Given the description of an element on the screen output the (x, y) to click on. 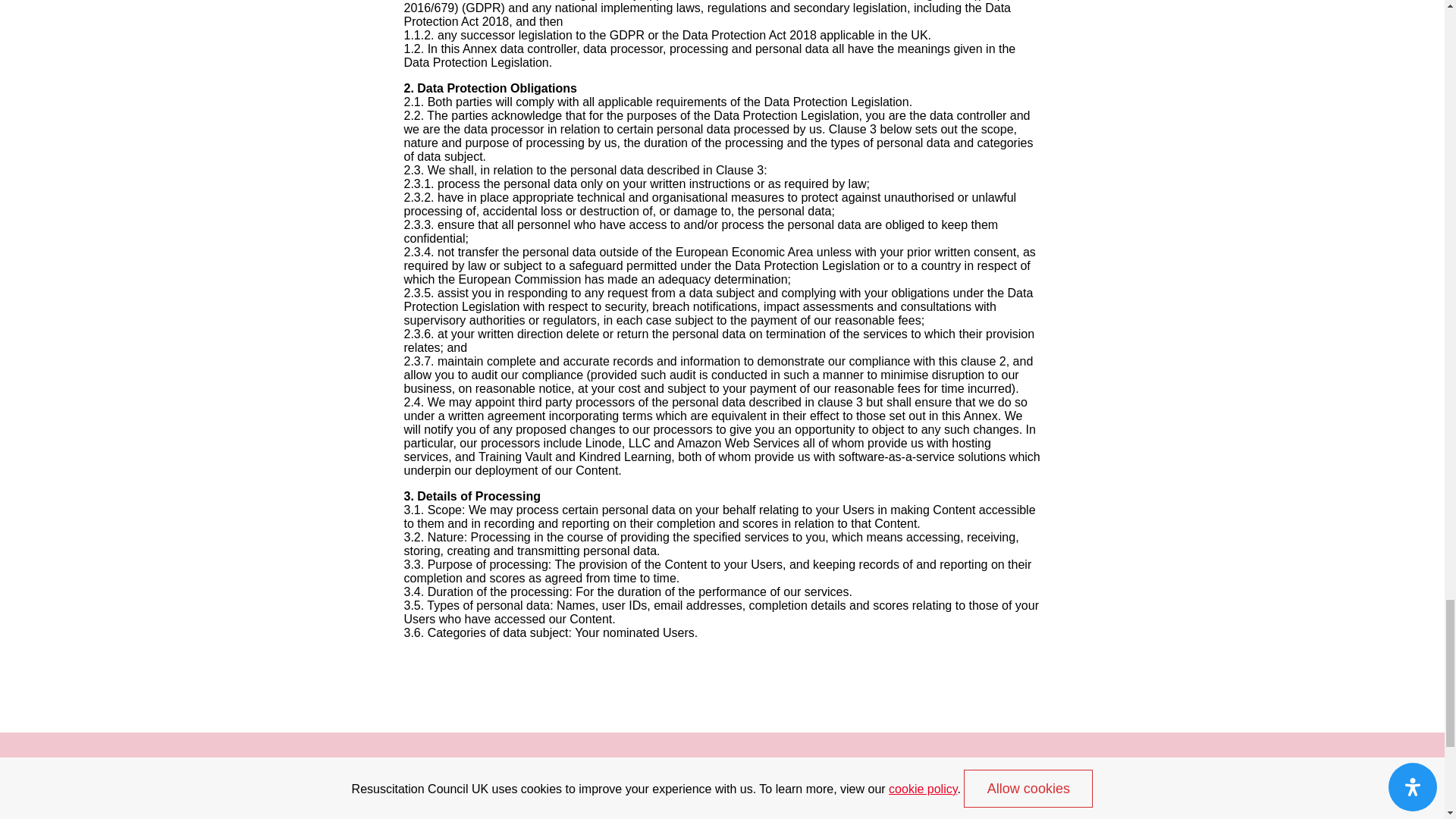
Contact us (976, 807)
